Given the description of an element on the screen output the (x, y) to click on. 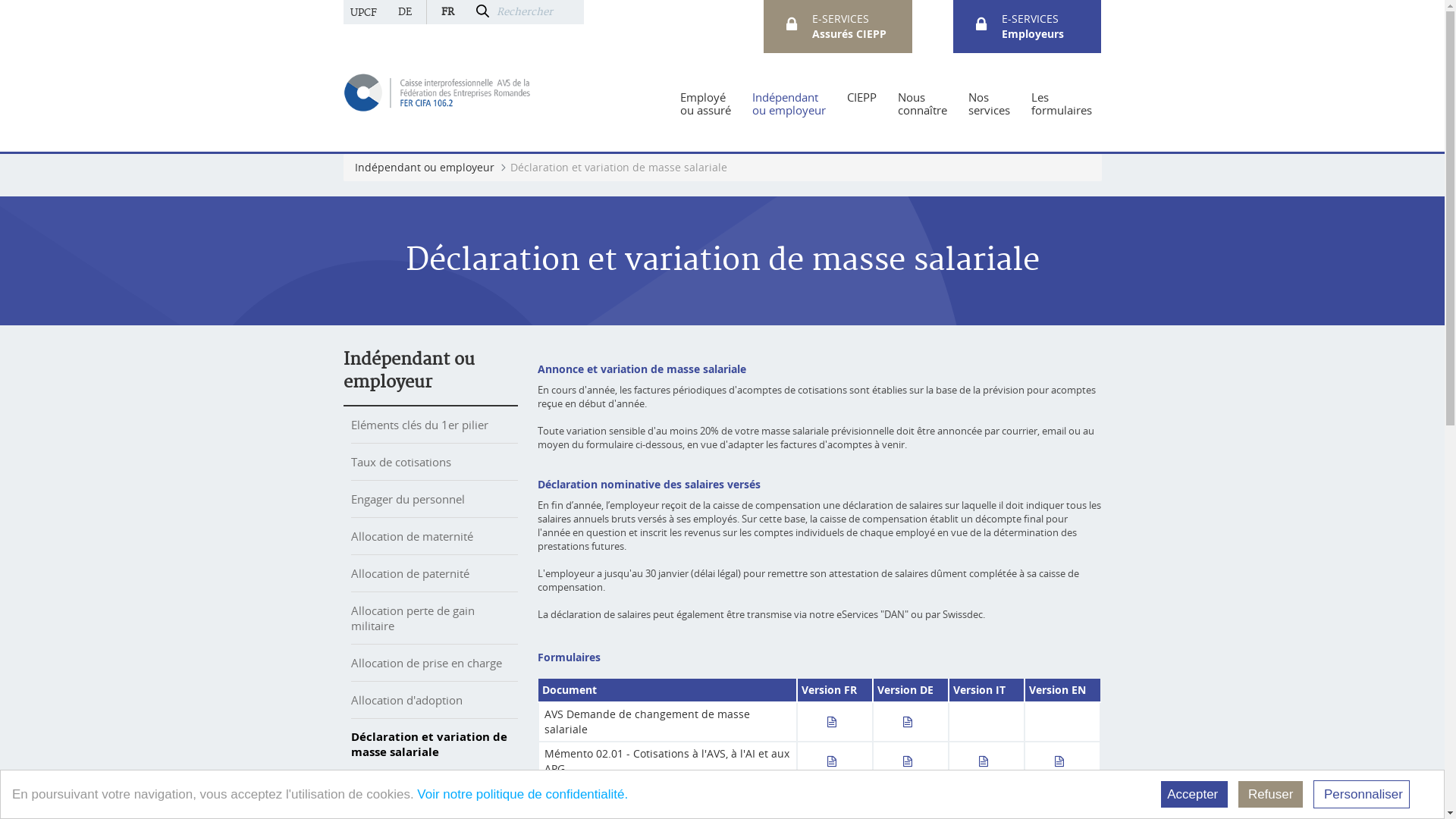
Rechercher Element type: text (482, 12)
Nos
services Element type: text (989, 103)
 CIFA Element type: hover (437, 91)
  Element type: text (837, 761)
Allocation d'adoption Element type: text (405, 699)
Refuser Element type: text (1270, 794)
UPCF Element type: text (362, 12)
Allocation de prise en charge Element type: text (425, 662)
Rechercher Element type: hover (537, 11)
  Element type: text (988, 761)
Les
formulaires Element type: text (1061, 103)
Allocation perte de gain militaire Element type: text (411, 617)
Personnaliser Element type: text (1361, 794)
CIEPP
  Element type: text (861, 103)
  Element type: text (912, 722)
Accepter Element type: text (1194, 794)
  Element type: text (837, 722)
  Element type: text (1064, 761)
  Element type: text (912, 761)
Engager du personnel Element type: text (407, 498)
Taux de cotisations Element type: text (400, 461)
E-SERVICES
Employeurs Element type: text (1032, 25)
DE Element type: text (404, 12)
Allocations familiales Element type: text (405, 789)
